Given the description of an element on the screen output the (x, y) to click on. 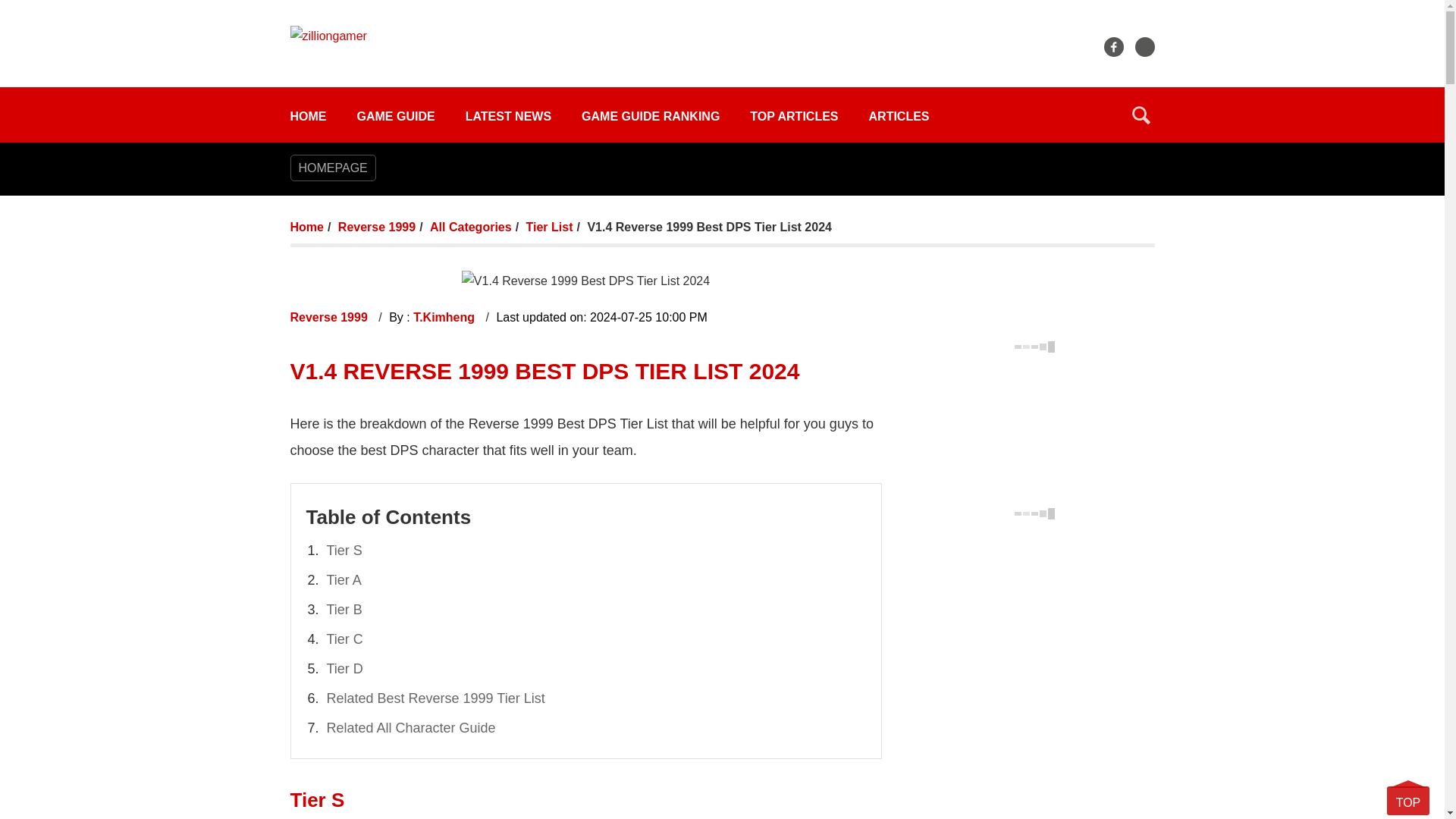
HOMEPAGE (332, 168)
ARTICLES (899, 115)
HOME (307, 115)
GAME GUIDE (394, 115)
All Categories (470, 226)
Tier List (549, 226)
zilliongamer (327, 34)
V1.4 Reverse 1999 Best DPS Tier List 2024 (585, 281)
TOP ARTICLES (793, 115)
Home (306, 226)
Reverse 1999 (375, 226)
Reverse 1999 (330, 317)
T.Kimheng (445, 317)
Tier List (549, 226)
